Given the description of an element on the screen output the (x, y) to click on. 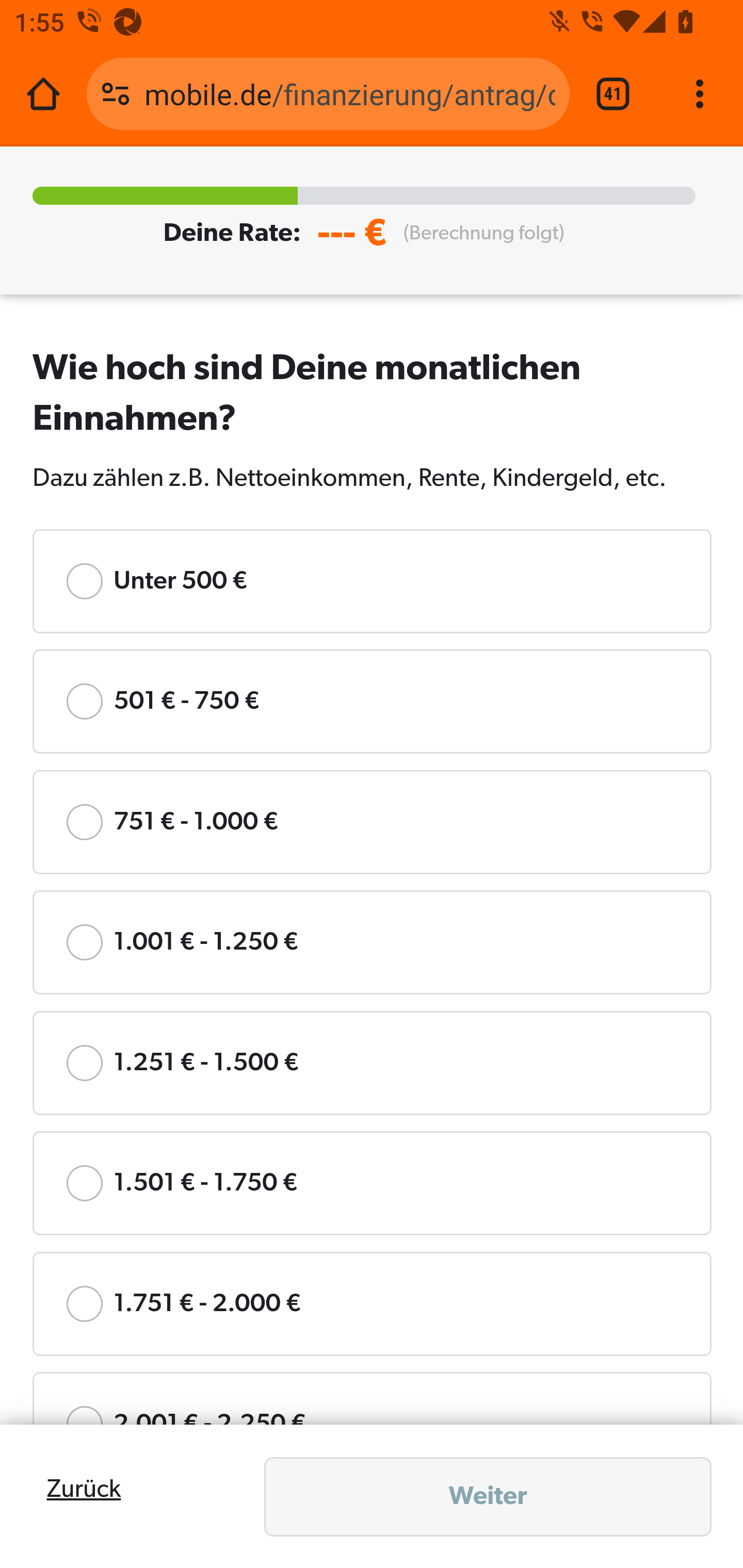
Open the home page (43, 93)
Connection is secure (115, 93)
Switch or close tabs (612, 93)
Customize and control Google Chrome (699, 93)
Zurück (83, 1490)
Weiter (488, 1497)
